Given the description of an element on the screen output the (x, y) to click on. 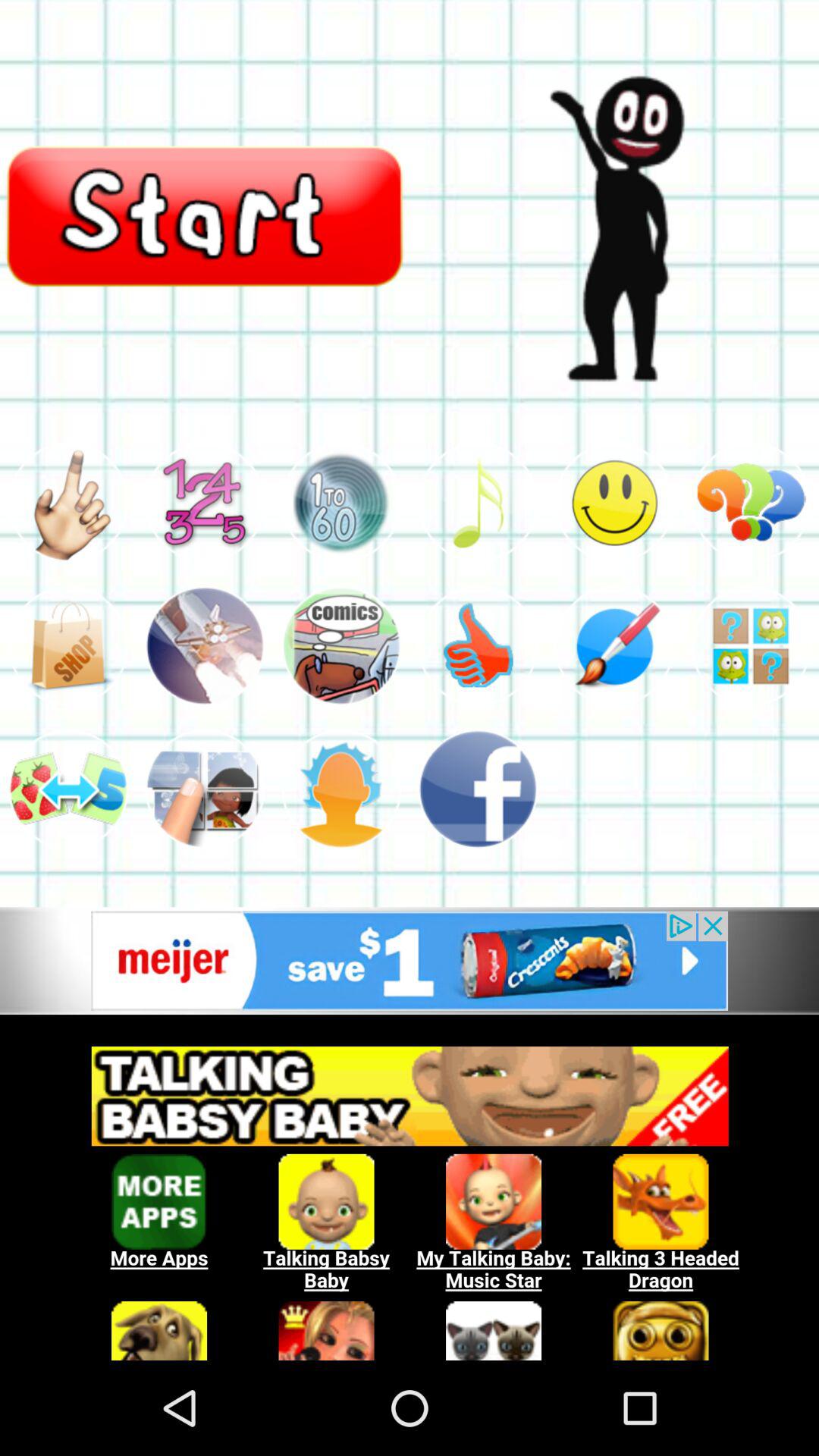
select it (477, 502)
